Given the description of an element on the screen output the (x, y) to click on. 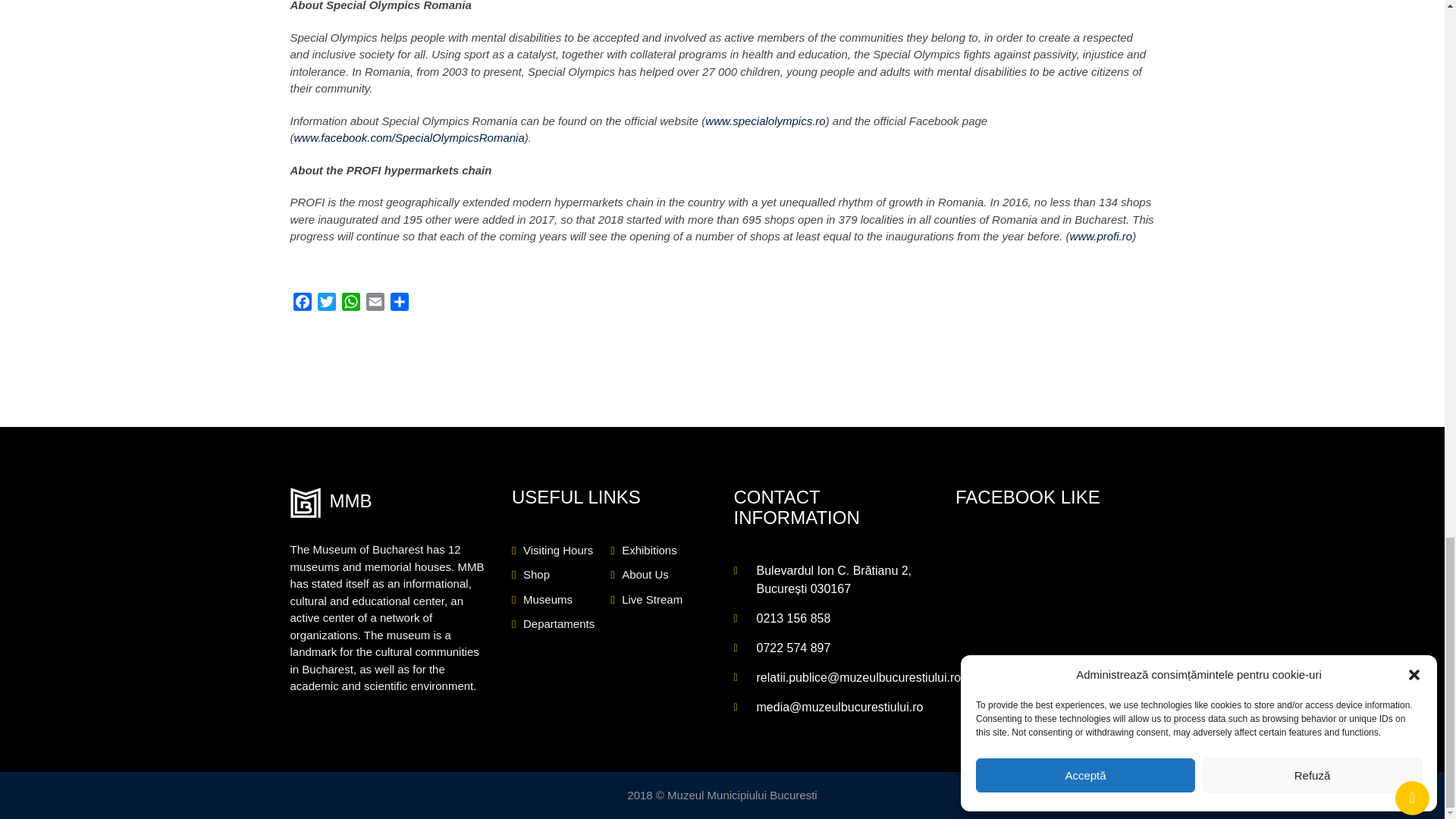
Twitter (325, 304)
Email (374, 304)
Facebook (301, 304)
WhatsApp (349, 304)
